Given the description of an element on the screen output the (x, y) to click on. 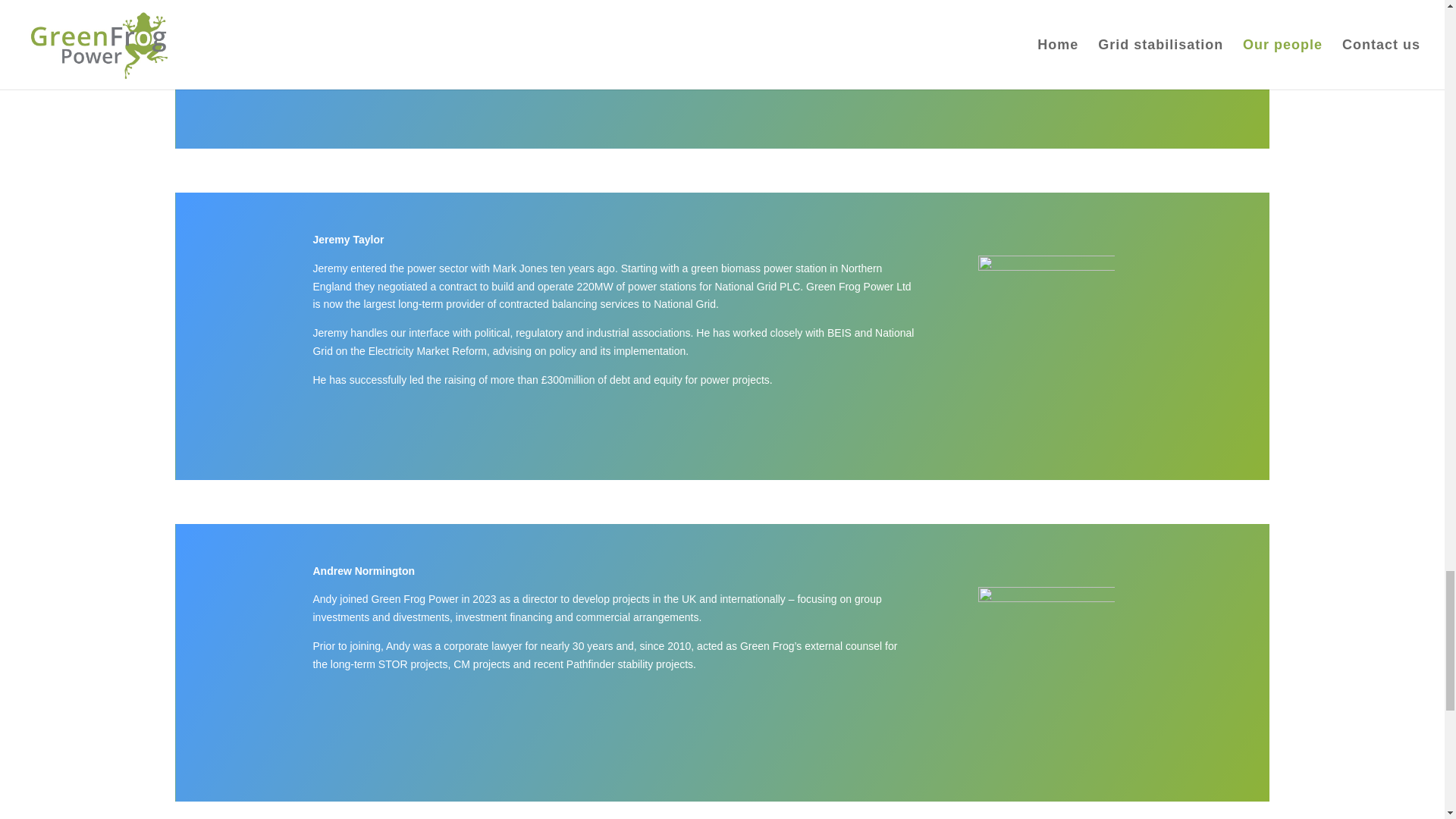
Jody Bourne (1046, 57)
